Given the description of an element on the screen output the (x, y) to click on. 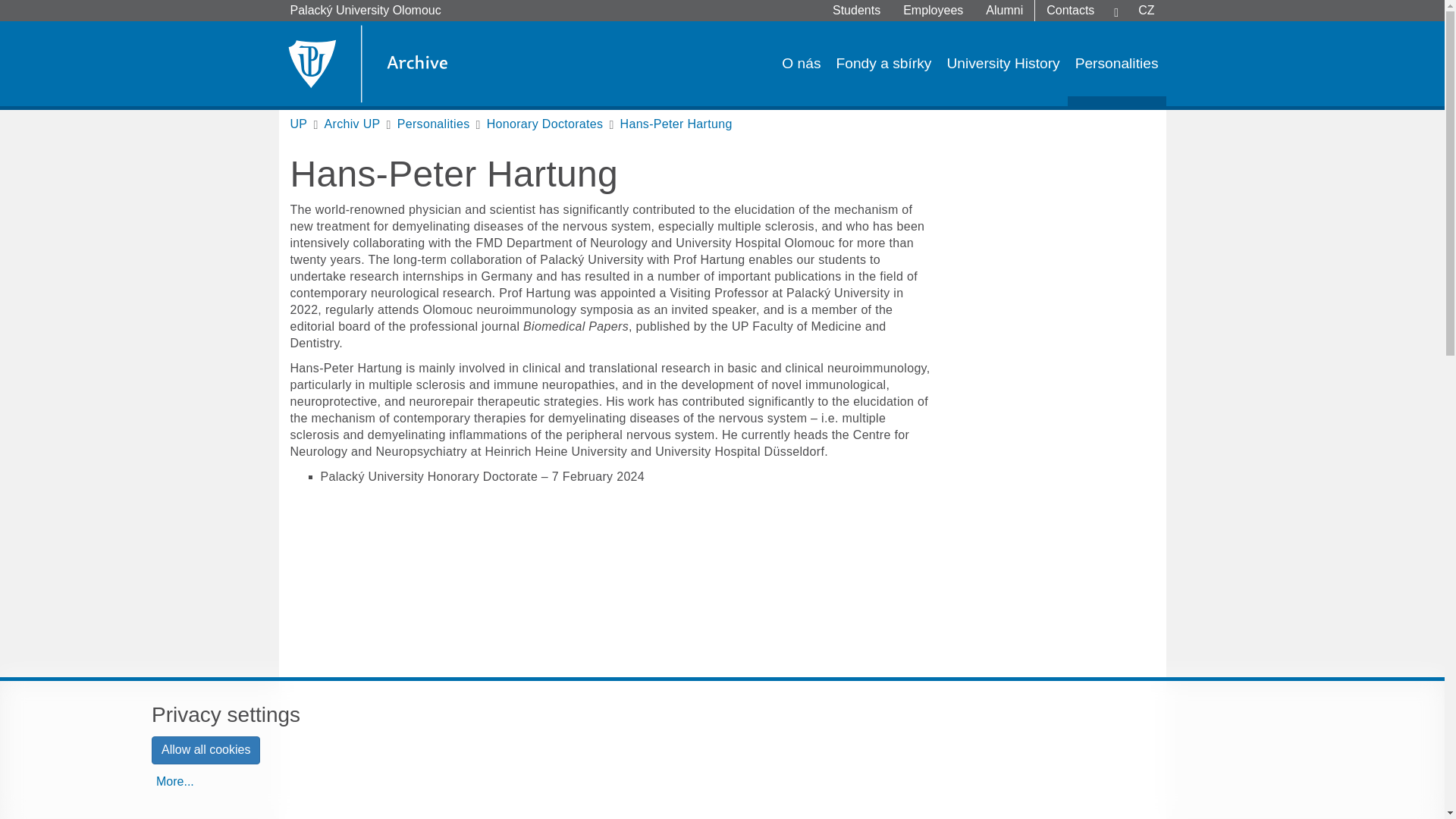
Employees (932, 10)
UP (298, 123)
Hans-Peter Hartung (676, 123)
University History (1003, 63)
Alumni (1003, 10)
Allow all cookies (205, 750)
Hans-Peter Hartung (676, 123)
Archiv UP (352, 123)
Honorary Doctorates (545, 123)
Personalities (1116, 63)
